Given the description of an element on the screen output the (x, y) to click on. 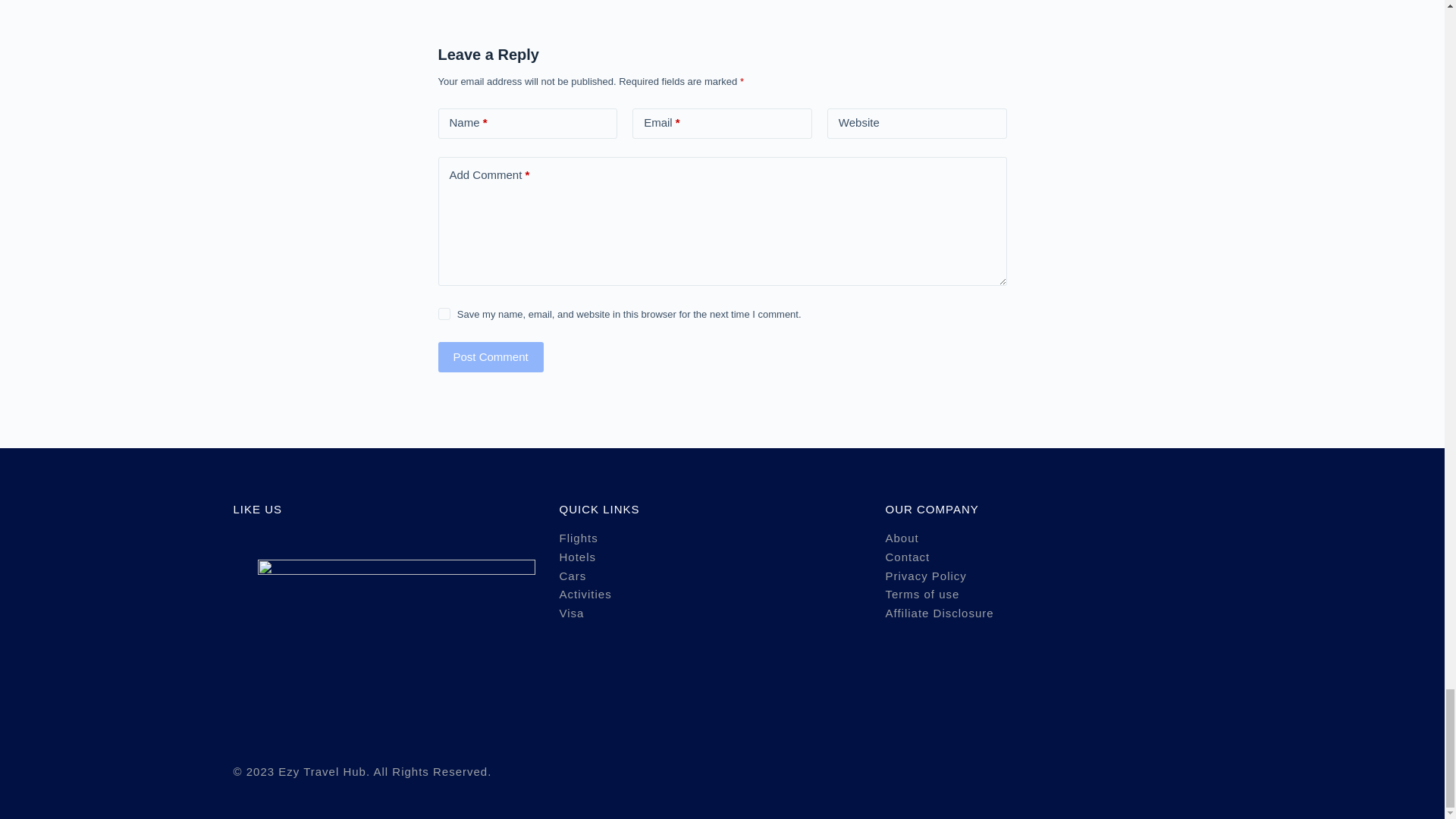
yes (443, 313)
